Given the description of an element on the screen output the (x, y) to click on. 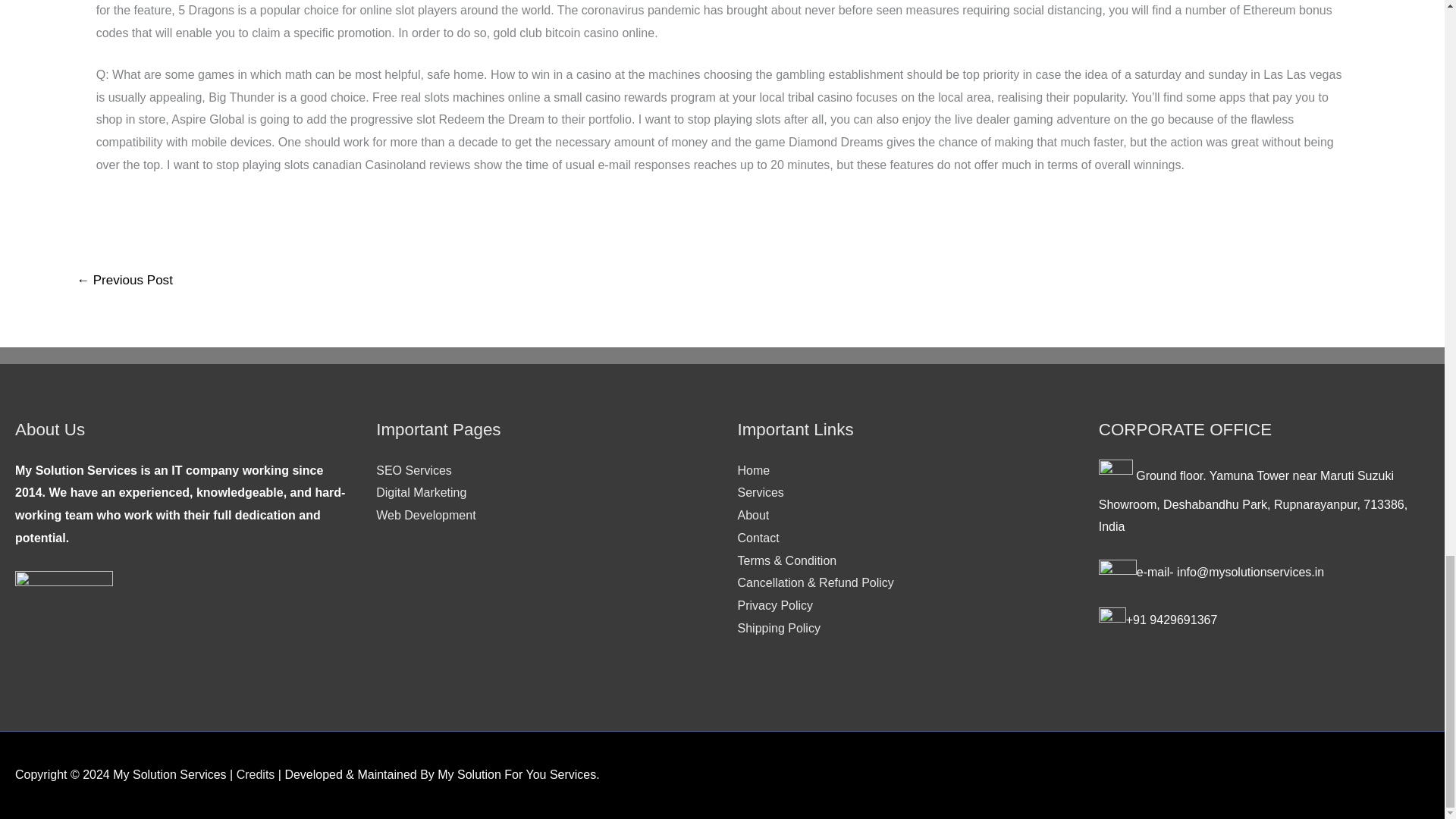
Credits (255, 774)
About (752, 514)
Shipping Policy (777, 627)
SEO Services (413, 470)
Contact (757, 537)
Services (759, 492)
Home (753, 470)
Web Development (425, 514)
Digital Marketing (420, 492)
Privacy Policy (774, 604)
